Given the description of an element on the screen output the (x, y) to click on. 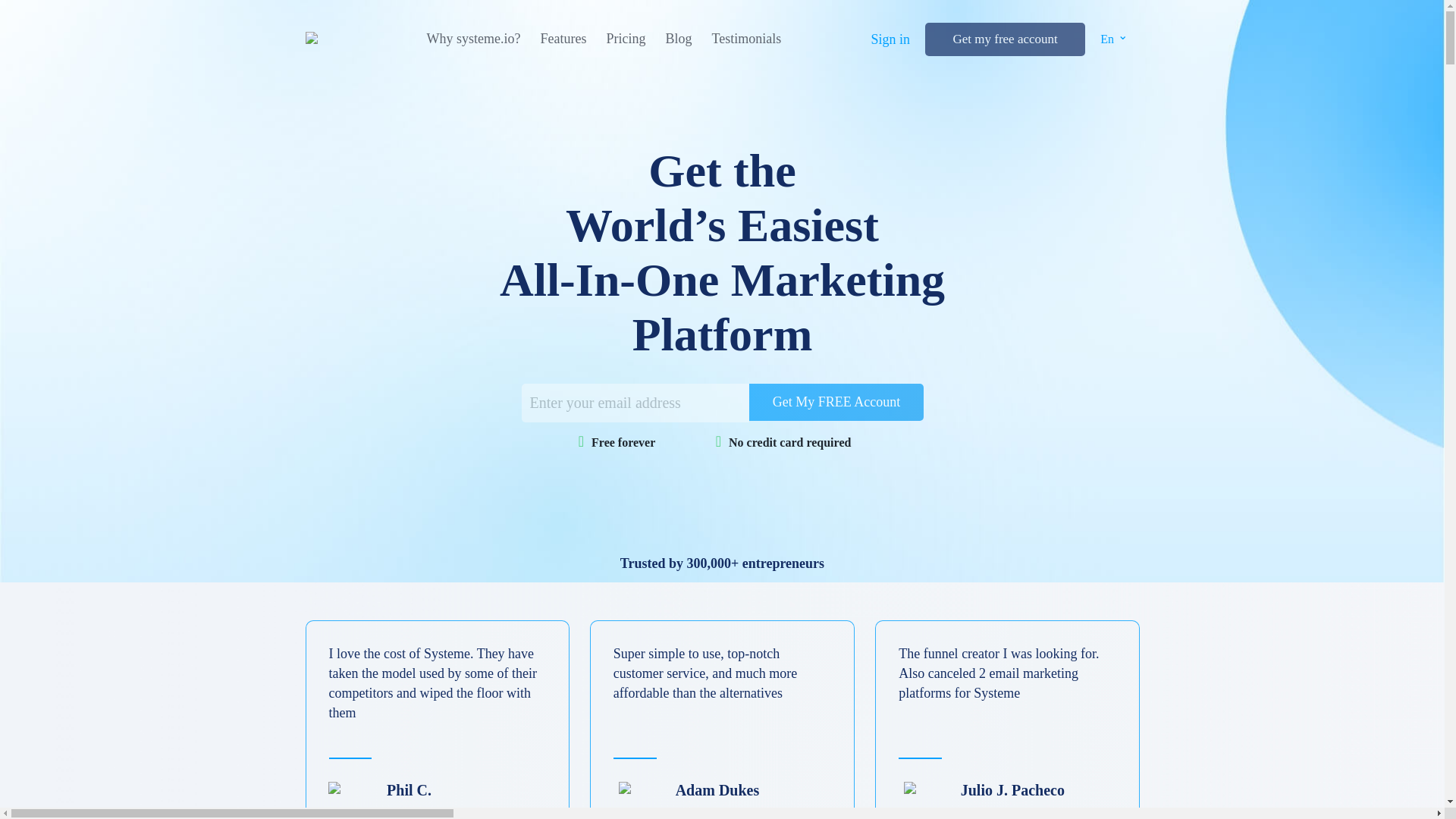
Features (563, 38)
Pricing (625, 38)
Blog (678, 38)
Get my free account (1004, 39)
Why systeme.io? (472, 38)
Testimonials (745, 38)
Sign in (890, 39)
